Given the description of an element on the screen output the (x, y) to click on. 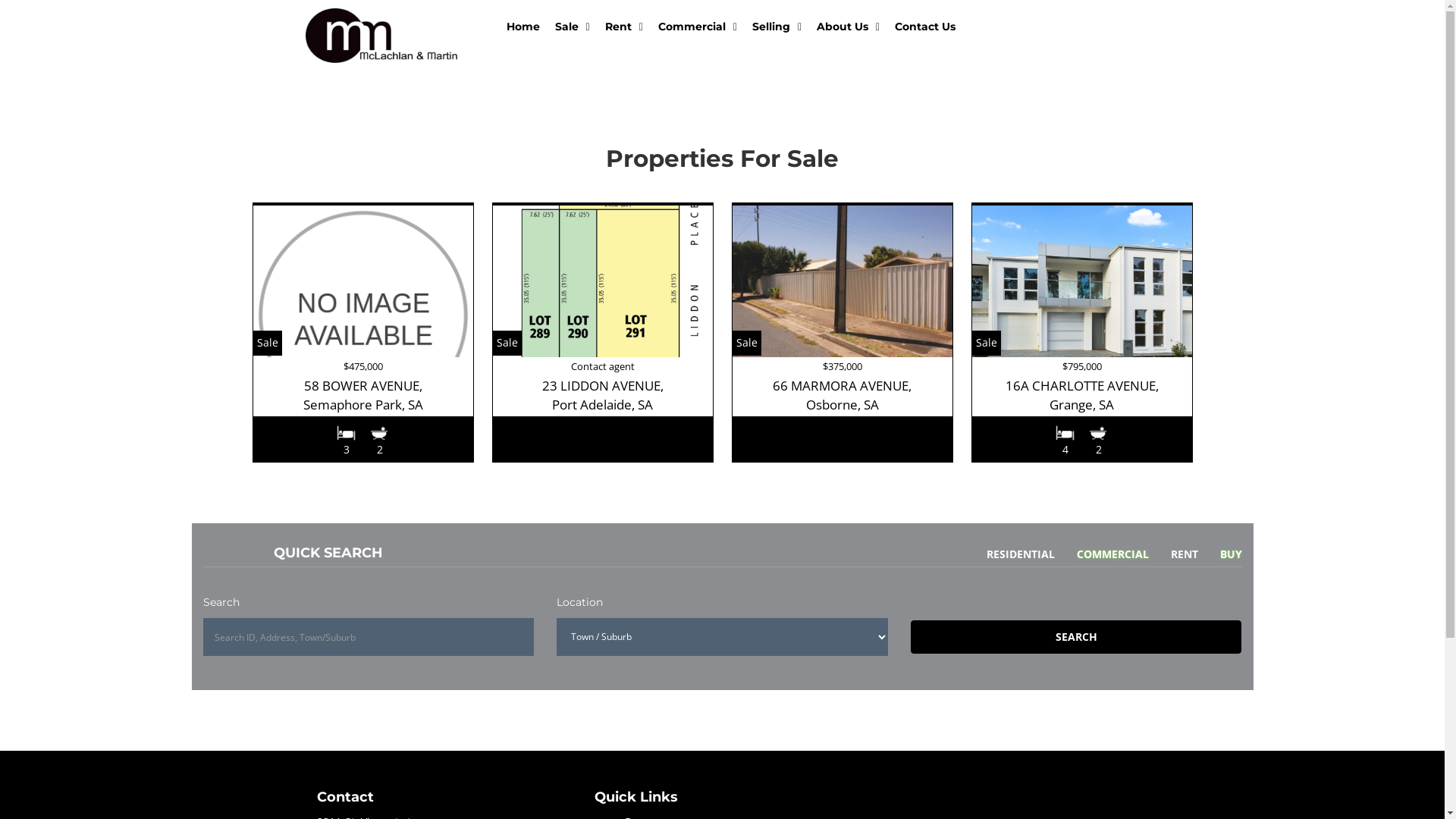
Home Element type: text (522, 26)
Sale
$375,000
66 MARMORA AVENUE,
Osborne, SA Element type: text (841, 332)
Selling Element type: text (776, 26)
Commercial Element type: text (697, 26)
Sale Element type: text (572, 26)
SEARCH Element type: text (1076, 637)
Sale
Contact agent
23 LIDDON AVENUE,
Port Adelaide, SA Element type: text (601, 332)
About Us Element type: text (847, 26)
Contact Us Element type: text (924, 26)
Sale
$795,000
16A CHARLOTTE AVENUE,
Grange, SA

4
2 Element type: text (1081, 332)
COMMERCIAL Element type: text (1102, 554)
RESIDENTIAL Element type: text (1010, 554)
Sale
$475,000
58 BOWER AVENUE,
Semaphore Park, SA

3
2 Element type: text (362, 332)
Rent Element type: text (624, 26)
